Given the description of an element on the screen output the (x, y) to click on. 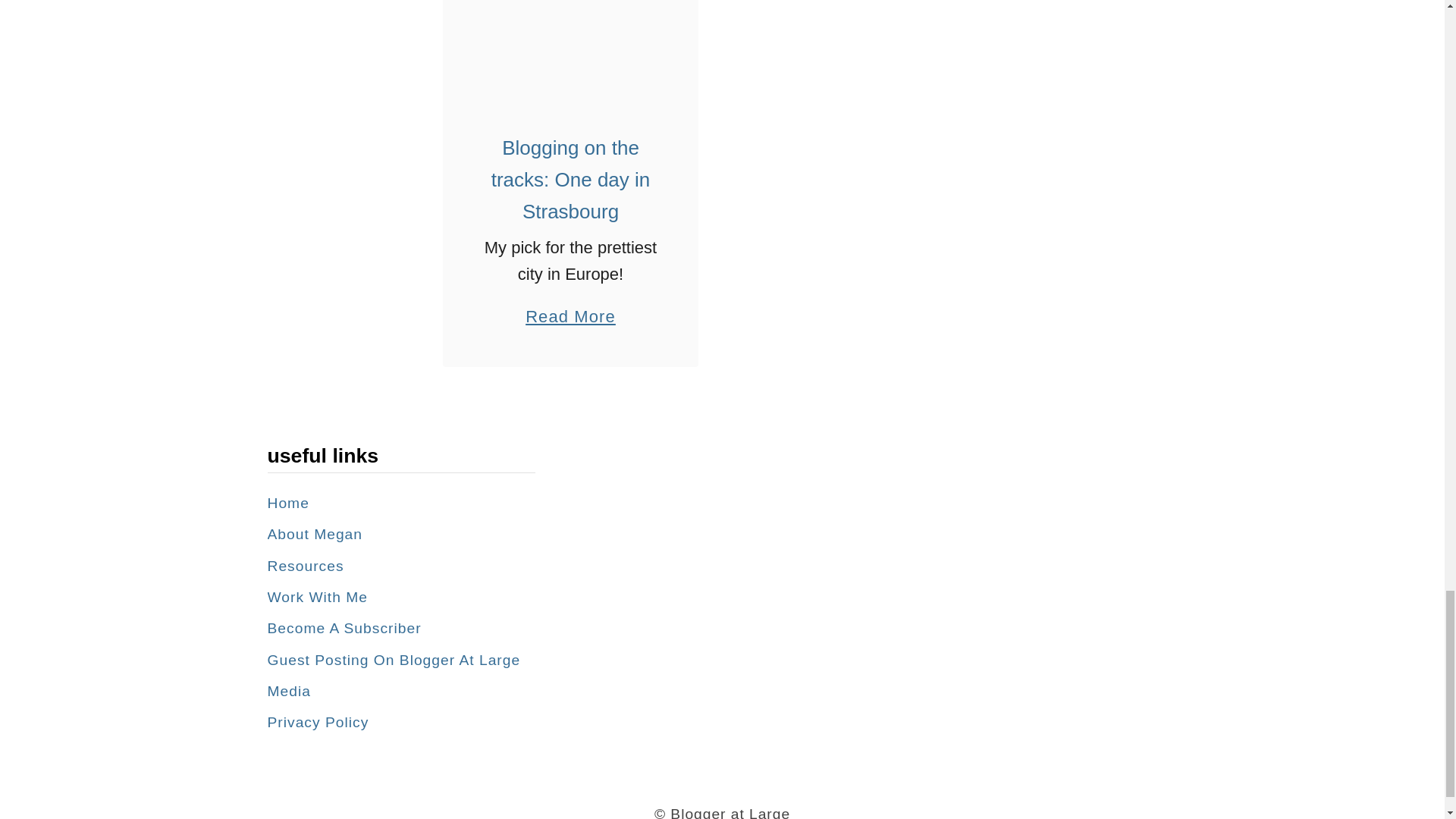
Blogging on the tracks: One day in Strasbourg (570, 47)
